Given the description of an element on the screen output the (x, y) to click on. 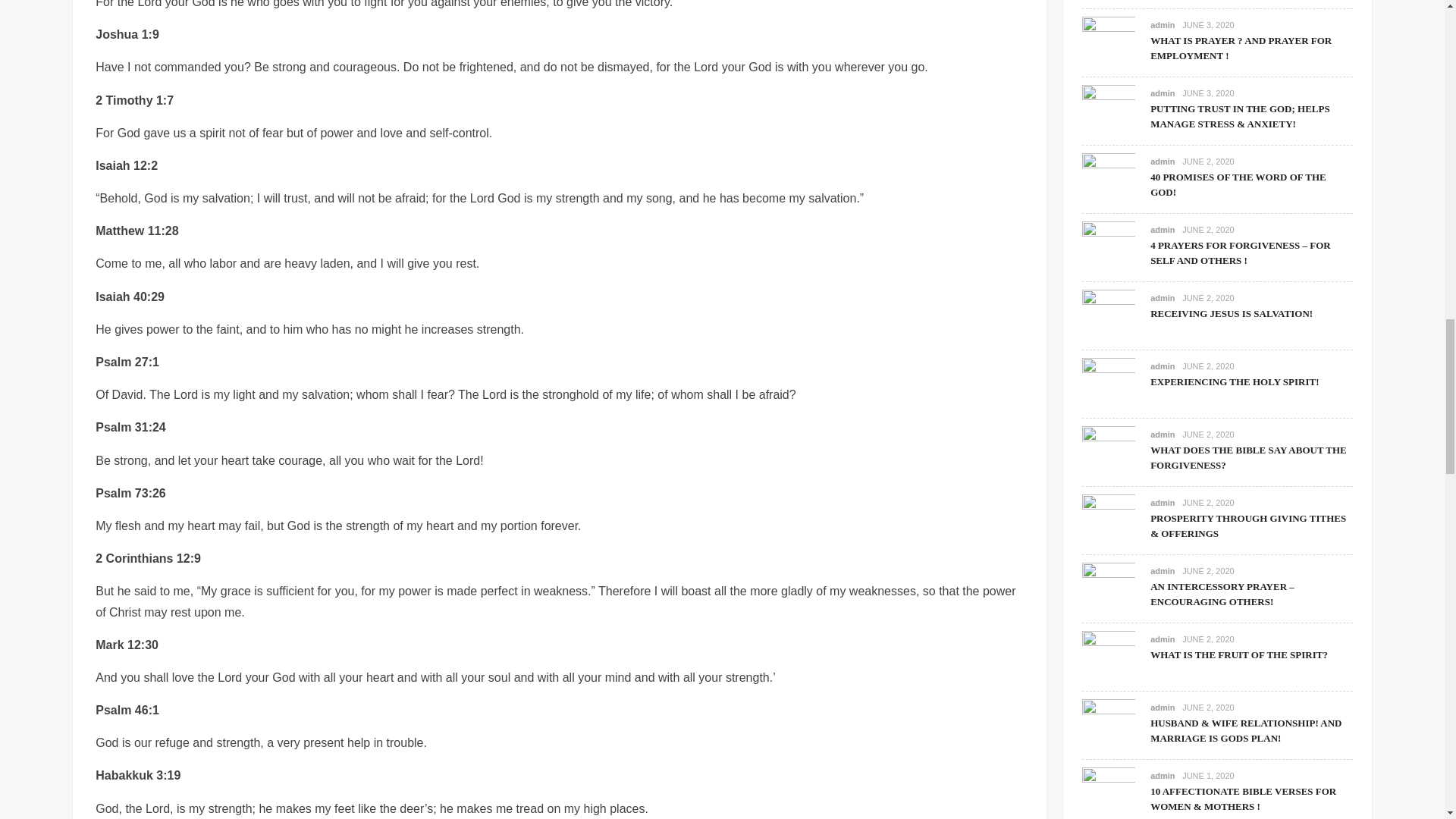
WHAT IS PRAYER ? AND PRAYER FOR EMPLOYMENT ! (1108, 42)
